Given the description of an element on the screen output the (x, y) to click on. 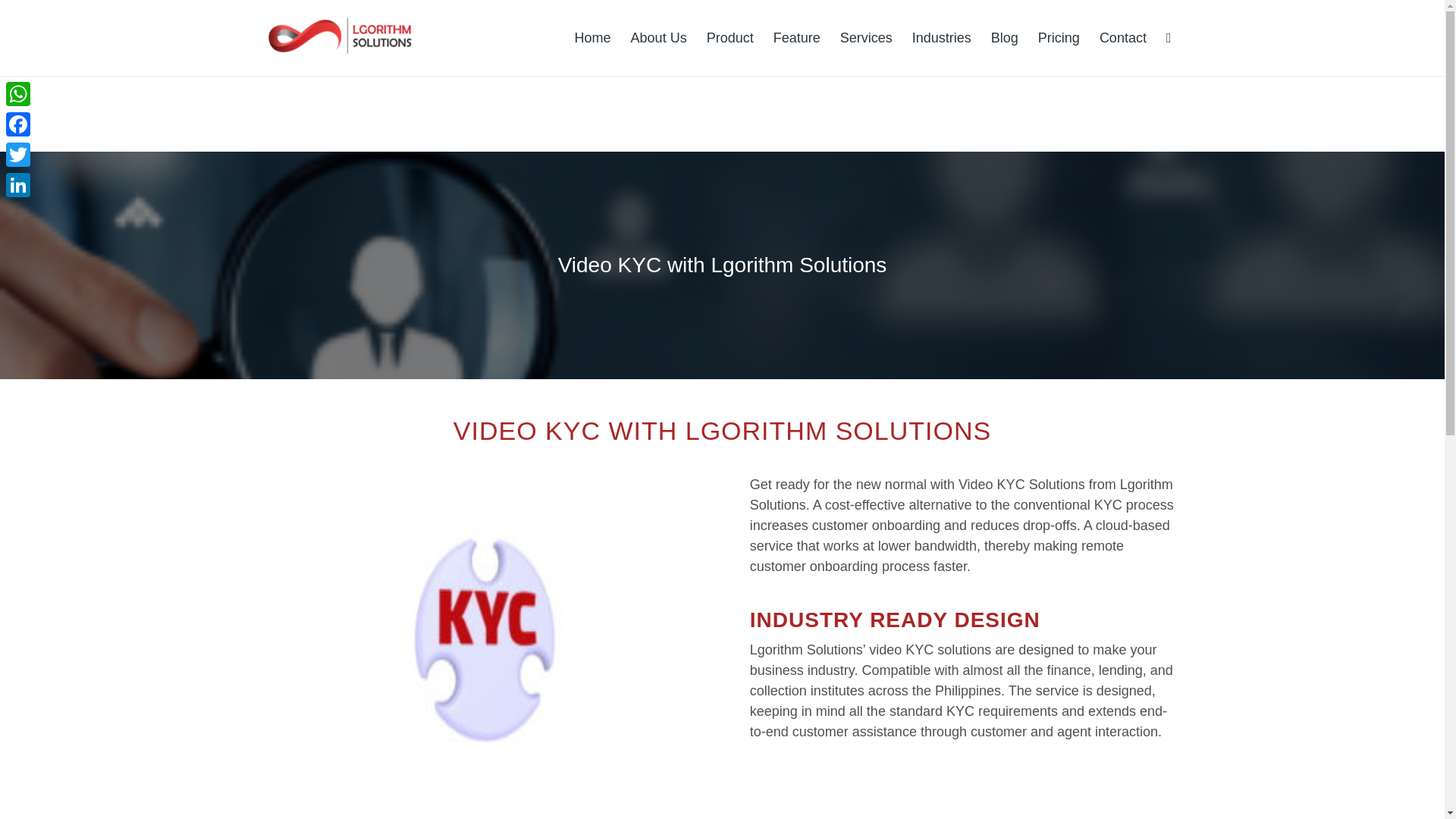
LinkedIn (17, 184)
WhatsApp (17, 93)
Twitter (17, 154)
Facebook (17, 123)
Industries (941, 38)
About Us (659, 38)
Services (865, 38)
